Given the description of an element on the screen output the (x, y) to click on. 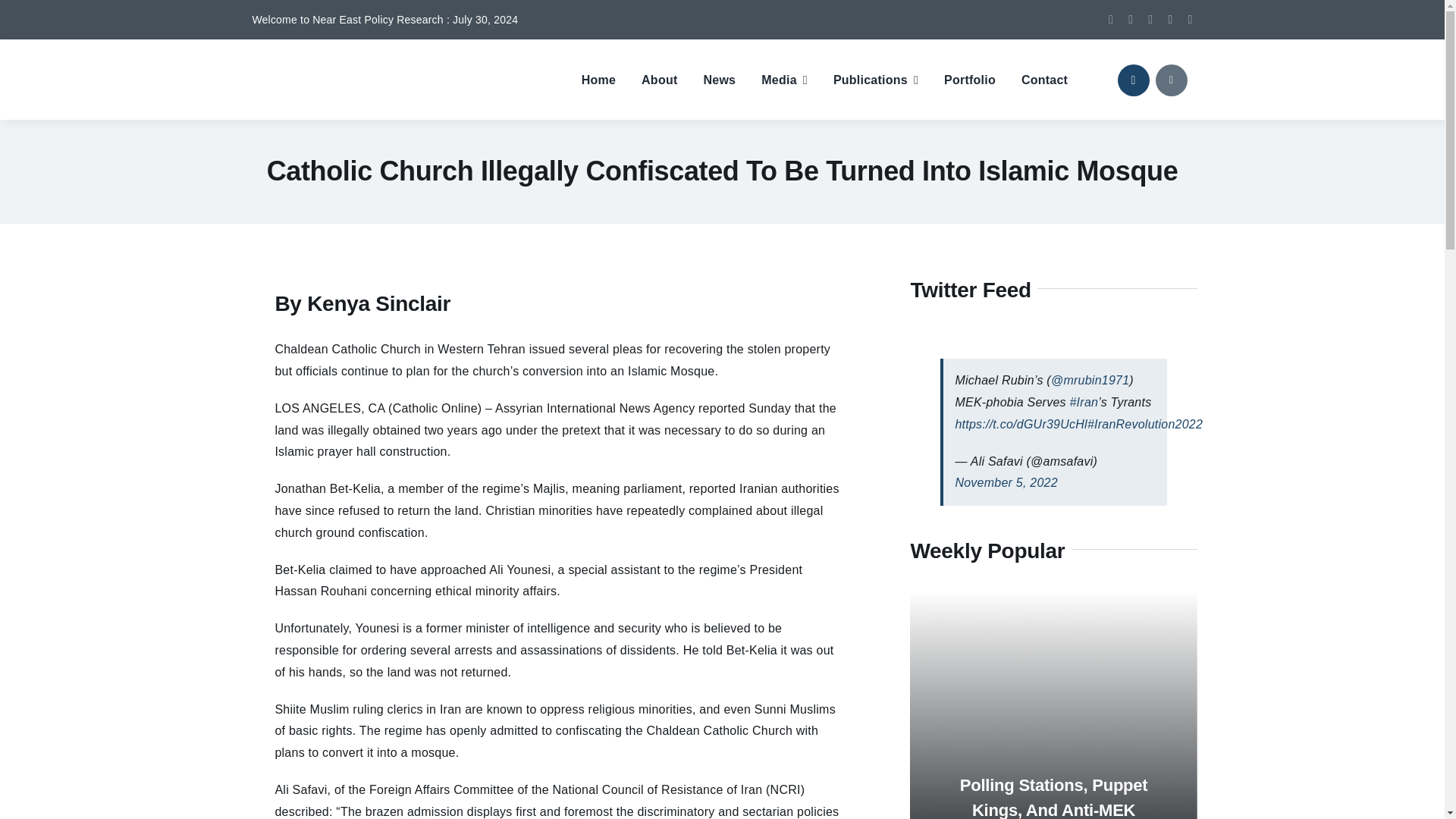
Portfolio (969, 79)
Media (784, 79)
Contact (1044, 79)
November 5, 2022 (1006, 481)
Publications (875, 79)
